Given the description of an element on the screen output the (x, y) to click on. 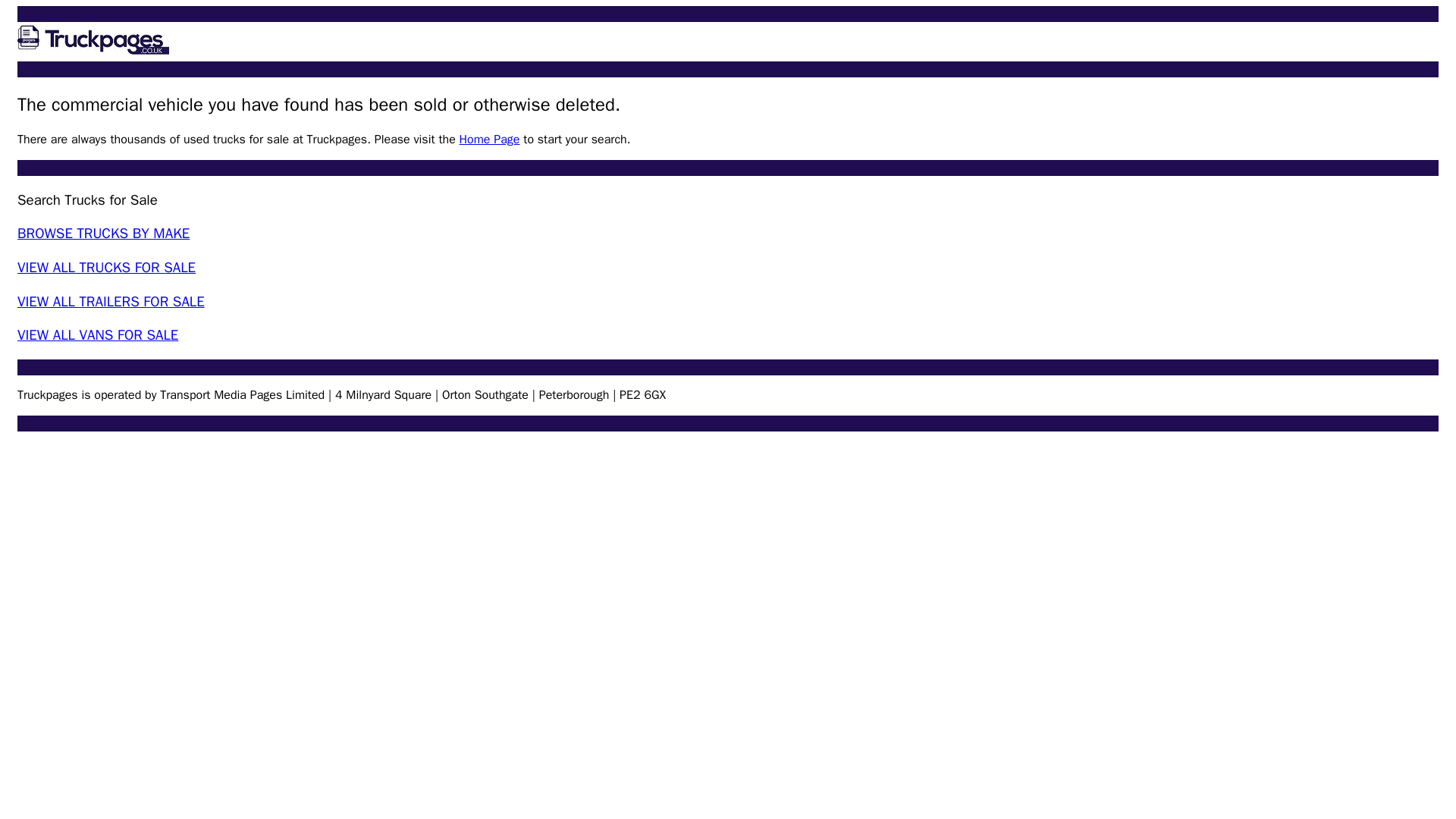
VIEW ALL VANS FOR SALE (97, 334)
VIEW ALL TRAILERS FOR SALE (111, 301)
Home (92, 41)
Home Page (489, 139)
BROWSE TRUCKS BY MAKE (103, 233)
VIEW ALL TRUCKS FOR SALE (106, 267)
